Given the description of an element on the screen output the (x, y) to click on. 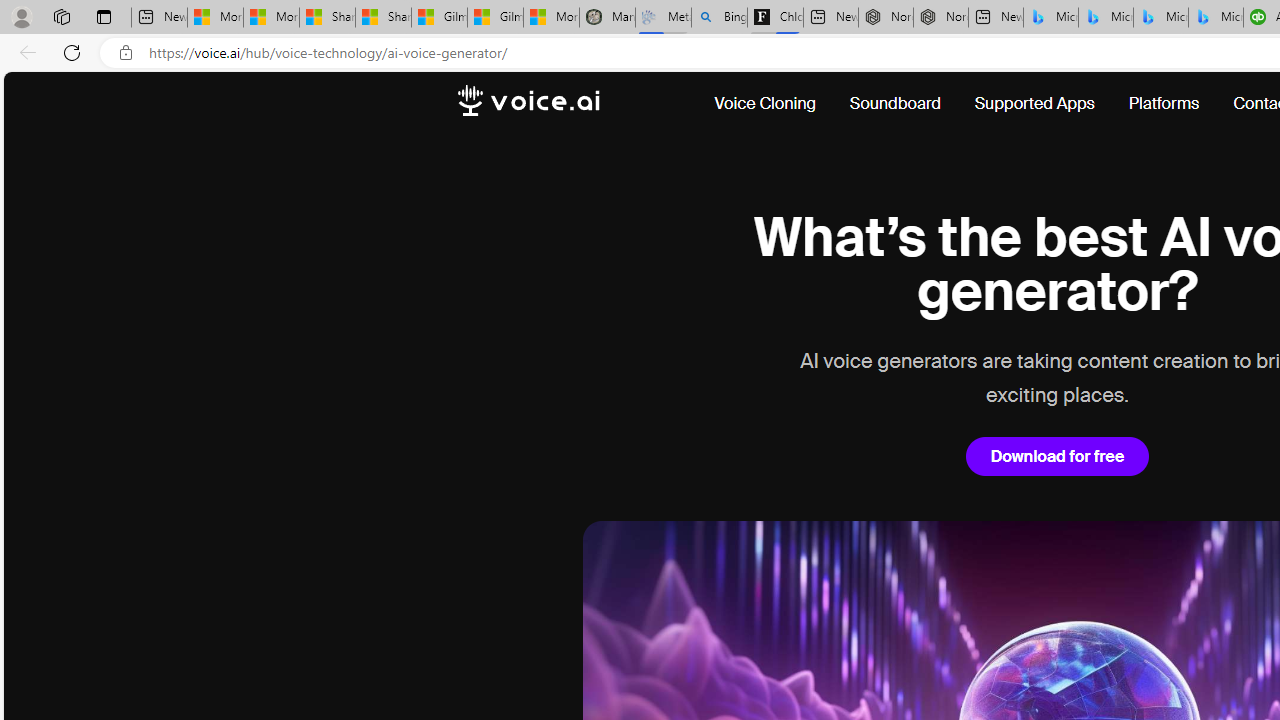
Supported Apps (1034, 103)
Bing Real Estate - Home sales and rental listings (719, 17)
Chloe Sorvino (774, 17)
Download for free (1057, 456)
Microsoft Bing Travel - Shangri-La Hotel Bangkok (1215, 17)
Nordace - #1 Japanese Best-Seller - Siena Smart Backpack (940, 17)
Gilma and Hector both pose tropical trouble for Hawaii (495, 17)
Microsoft Bing Travel - Stays in Bangkok, Bangkok, Thailand (1105, 17)
Soundboard (895, 103)
Platforms (1164, 103)
